Given the description of an element on the screen output the (x, y) to click on. 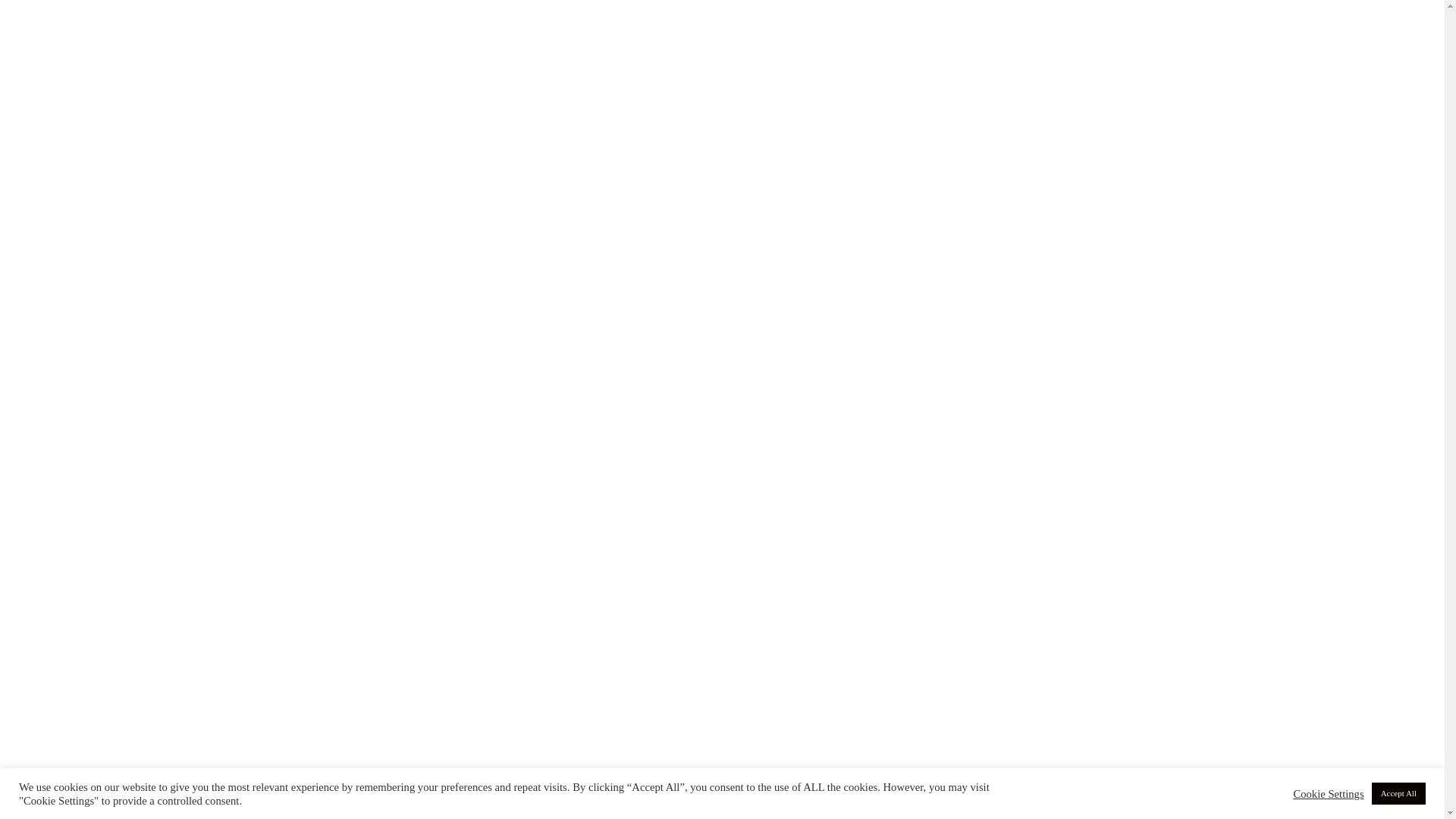
Accept All Element type: text (1398, 793)
Cookie Settings Element type: text (1327, 793)
